Given the description of an element on the screen output the (x, y) to click on. 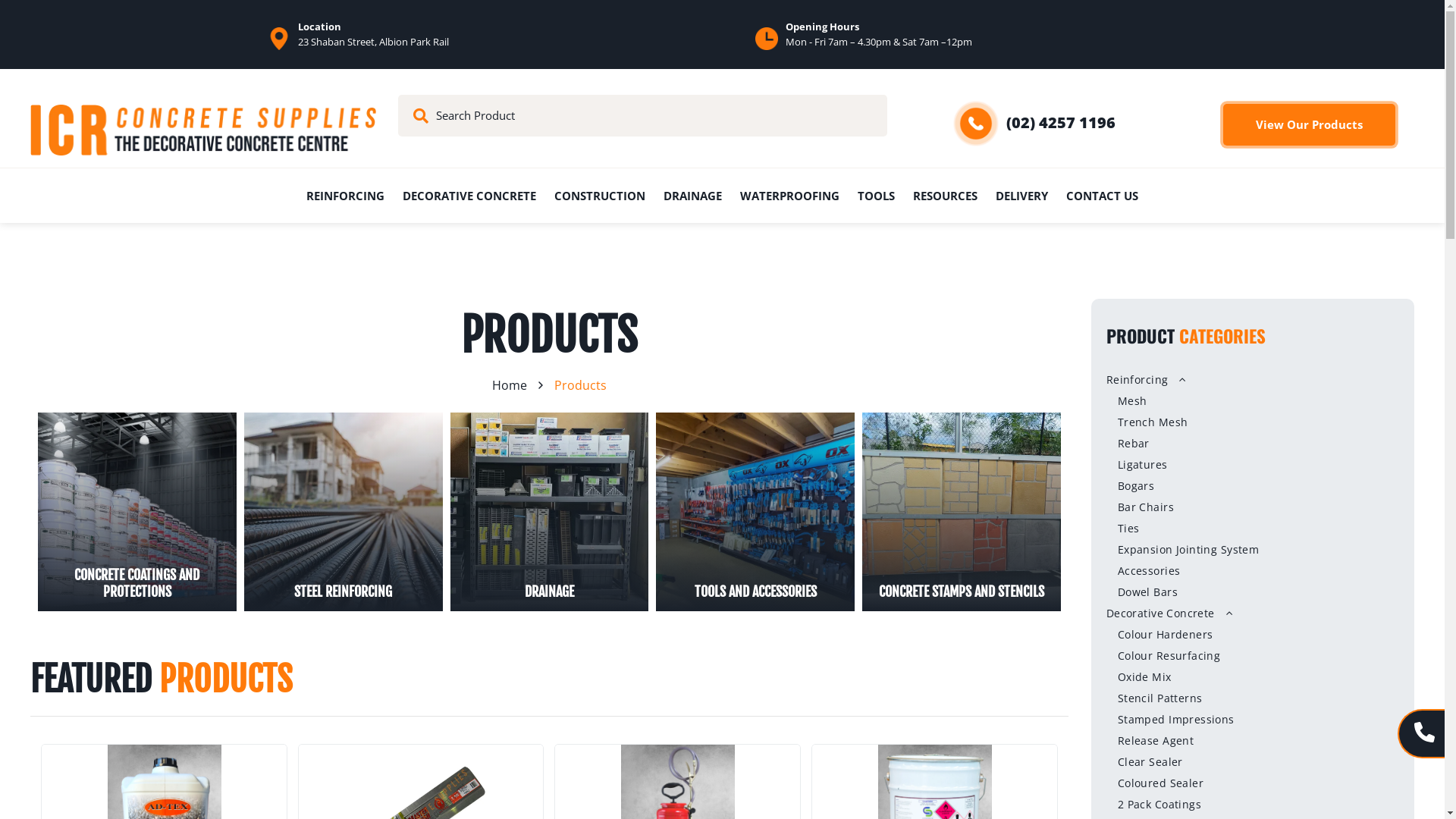
CONSTRUCTION Element type: text (599, 195)
Ligatures Element type: text (1252, 464)
Stamped Impressions Element type: text (1252, 719)
DECORATIVE CONCRETE Element type: text (469, 195)
Accessories Element type: text (1252, 570)
TOOLS Element type: text (876, 195)
REINFORCING Element type: text (345, 195)
Stencil Patterns Element type: text (1252, 698)
CONTACT US Element type: text (1101, 195)
Release Agent Element type: text (1252, 740)
RESOURCES Element type: text (945, 195)
2 Pack Coatings Element type: text (1252, 804)
Mesh Element type: text (1252, 400)
DRAINAGE Element type: text (692, 195)
Decorative Concrete Element type: text (1252, 613)
Home Element type: text (509, 385)
Dowel Bars Element type: text (1252, 591)
Colour Resurfacing Element type: text (1252, 655)
Colour Hardeners Element type: text (1252, 634)
View Our Products Element type: text (1309, 123)
Reinforcing Element type: text (1252, 379)
Trench Mesh Element type: text (1252, 422)
Bar Chairs Element type: text (1252, 506)
Oxide Mix Element type: text (1252, 676)
Bogars Element type: text (1252, 485)
DELIVERY Element type: text (1021, 195)
Clear Sealer Element type: text (1252, 761)
WATERPROOFING Element type: text (789, 195)
(02) 4257 1196 Element type: text (1060, 122)
Rebar Element type: text (1252, 443)
Expansion Jointing System Element type: text (1252, 549)
Ties Element type: text (1252, 528)
Coloured Sealer Element type: text (1252, 782)
